Given the description of an element on the screen output the (x, y) to click on. 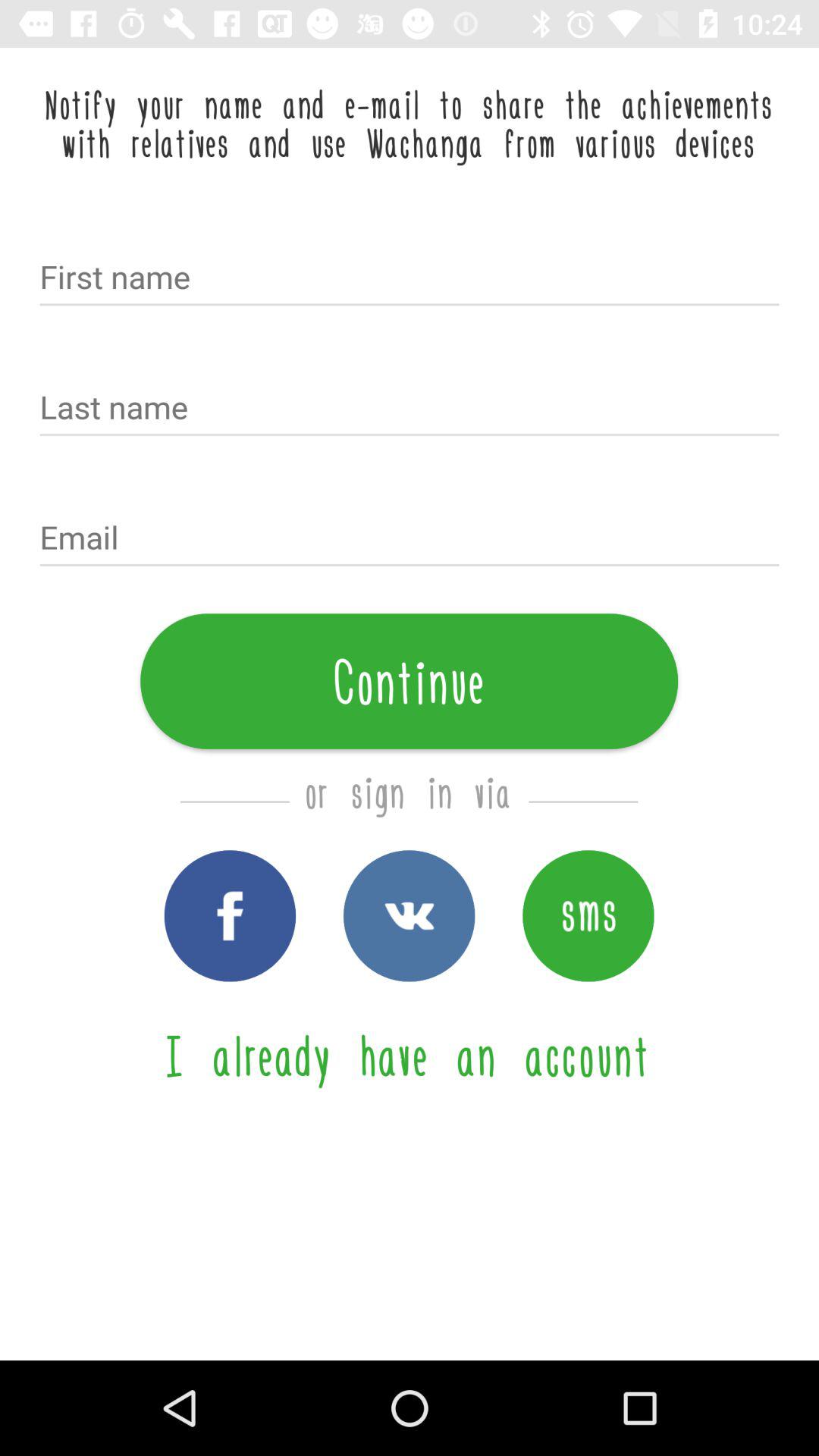
signin with facebook (229, 915)
